Given the description of an element on the screen output the (x, y) to click on. 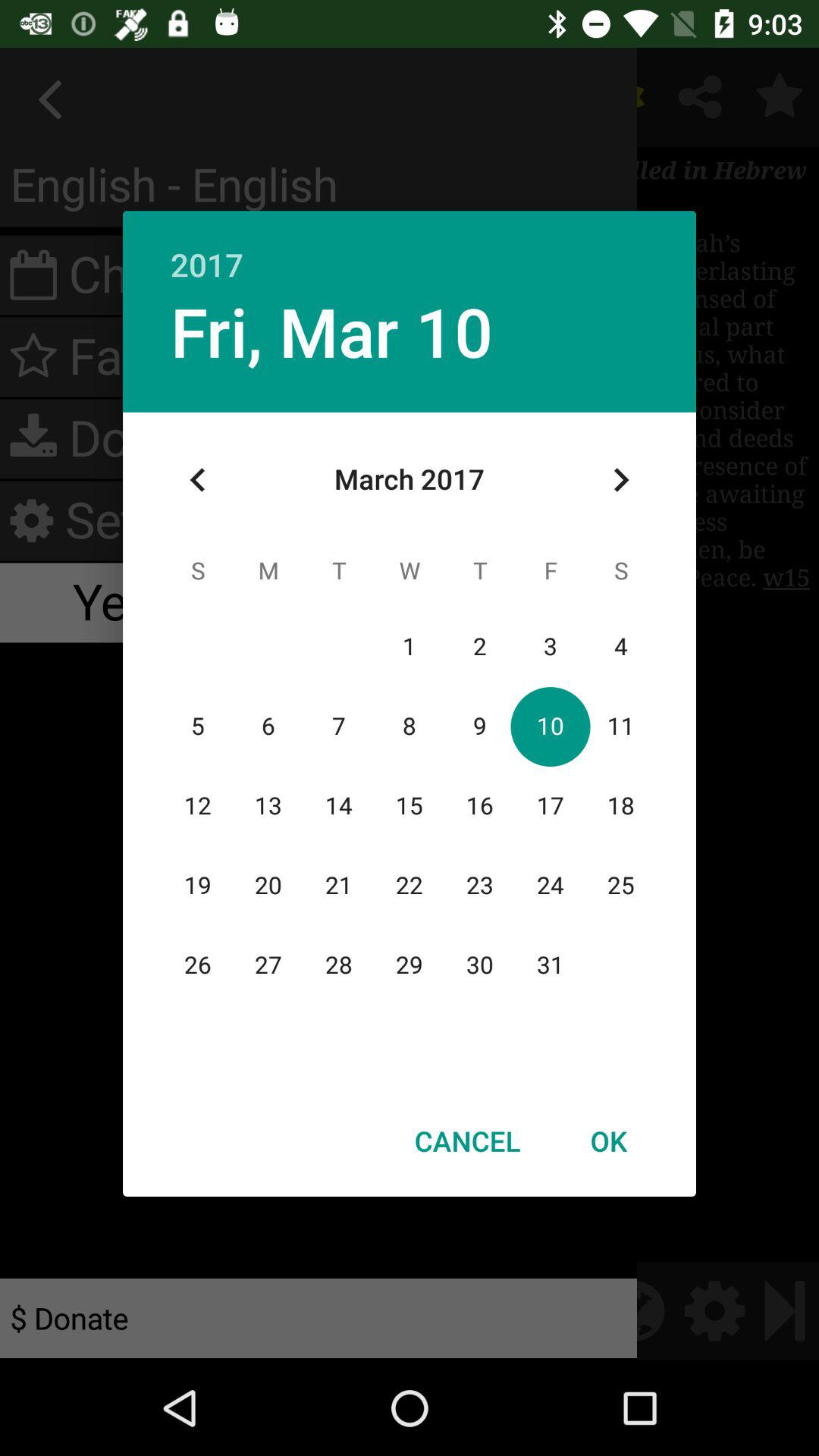
turn off cancel (467, 1140)
